Given the description of an element on the screen output the (x, y) to click on. 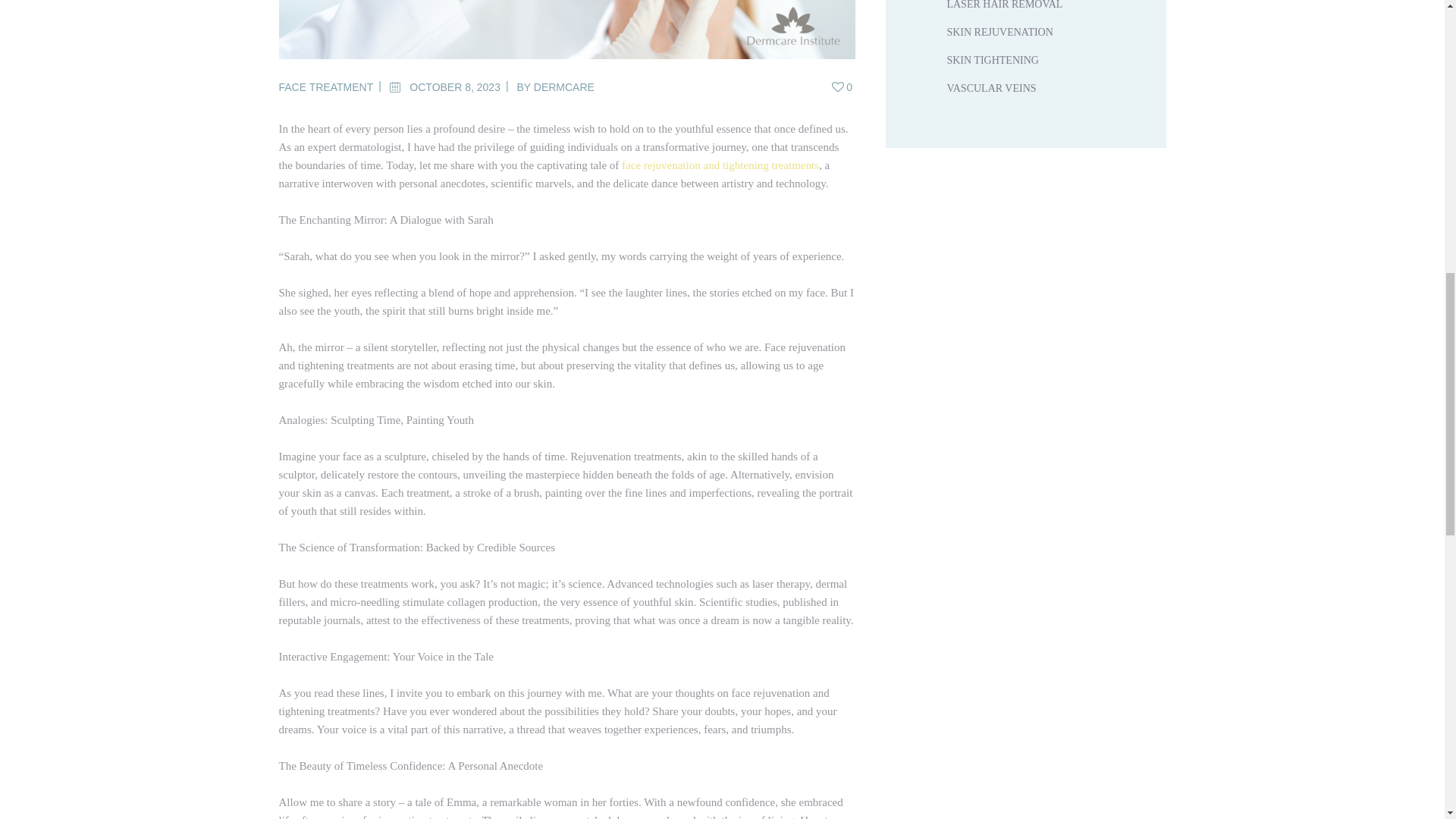
Like (843, 87)
